Given the description of an element on the screen output the (x, y) to click on. 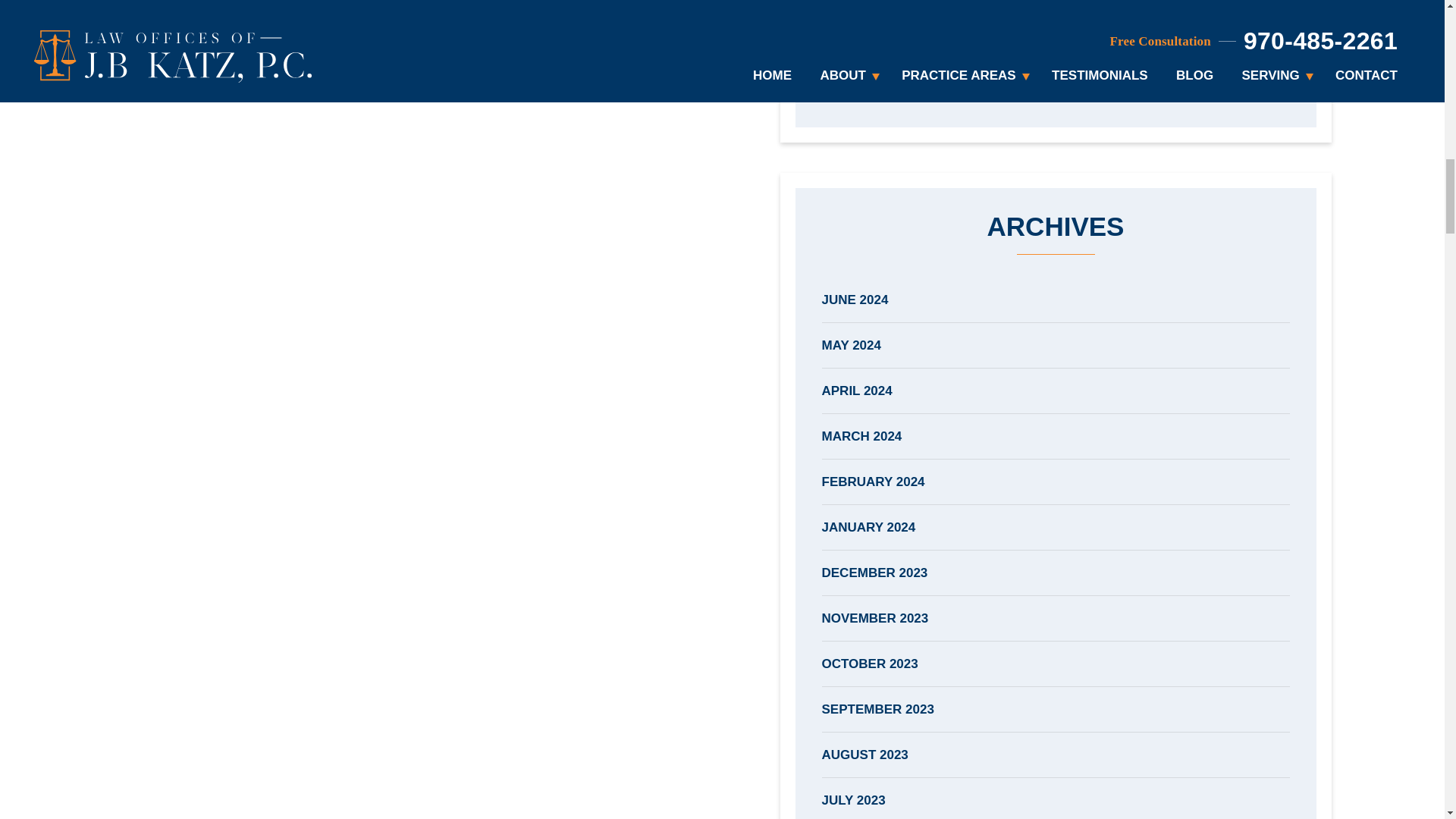
FELONIES (1056, 4)
JUNE 2024 (1056, 299)
FIRM NEWS (1056, 42)
UNDERAGE CRIMES (1056, 88)
